Given the description of an element on the screen output the (x, y) to click on. 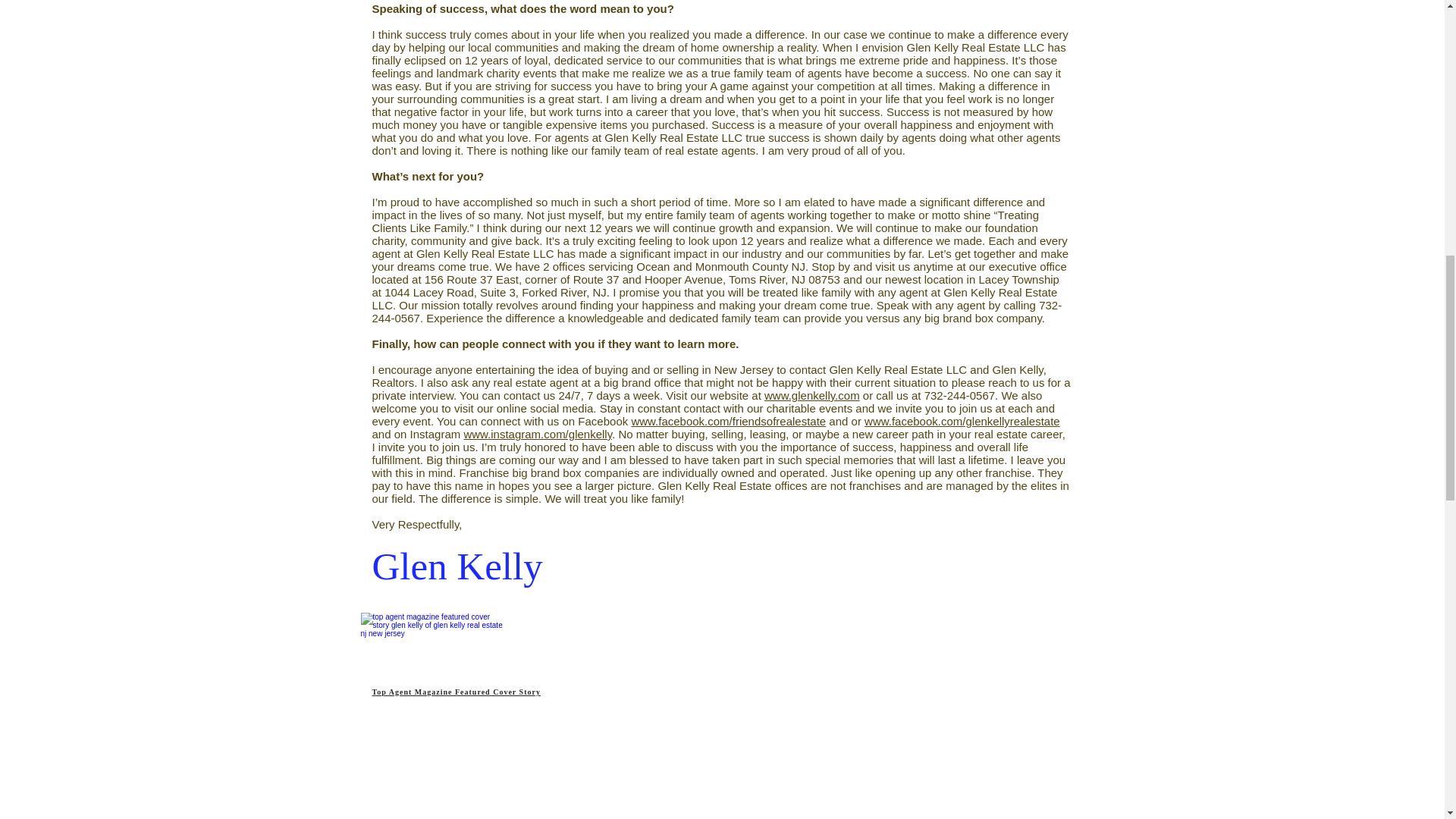
www.glenkelly.com (812, 395)
Top Agent Magazine Featured Cover Story (455, 691)
